Given the description of an element on the screen output the (x, y) to click on. 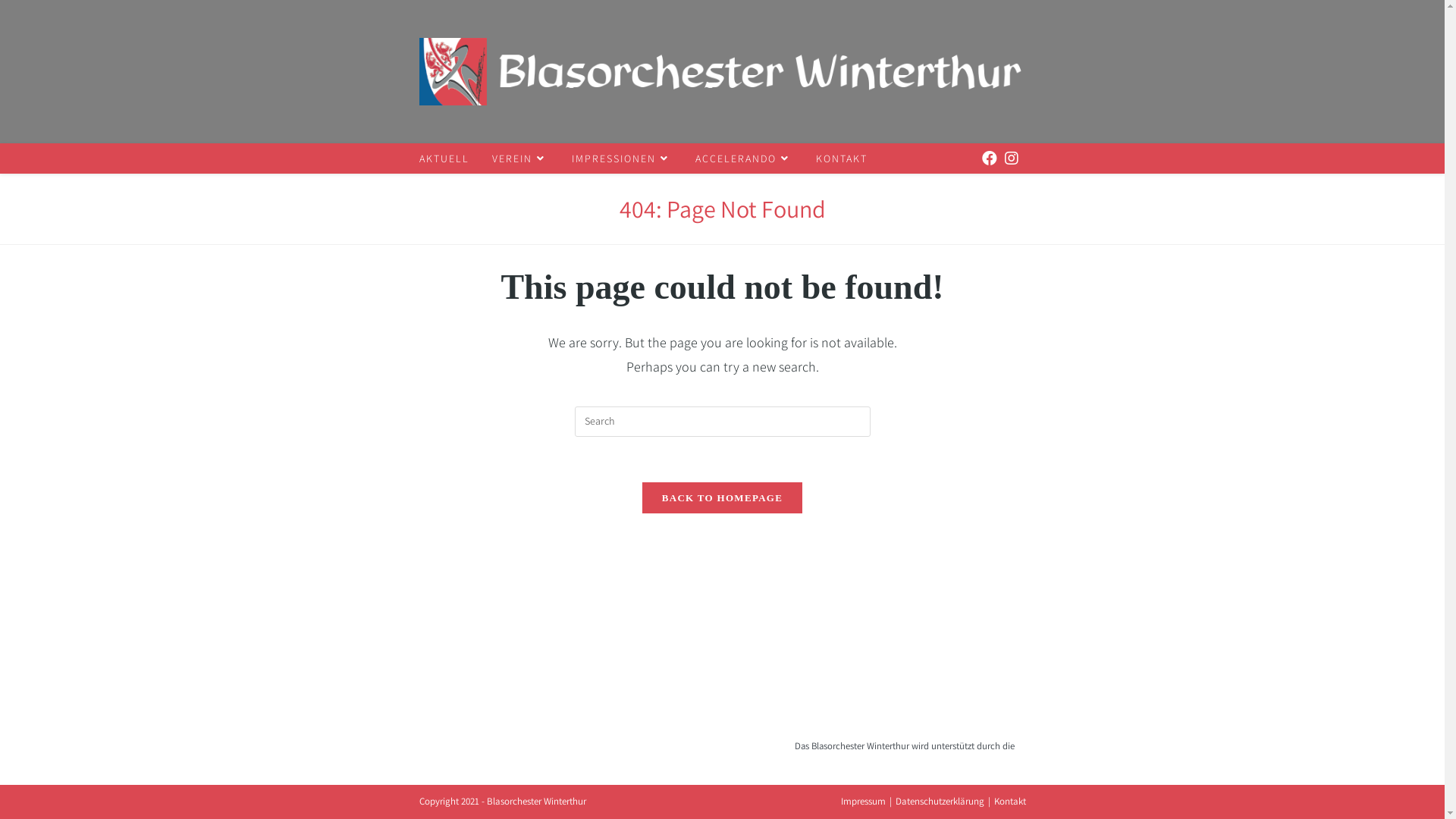
AKTUELL Element type: text (443, 158)
VEREIN Element type: text (520, 158)
IMPRESSIONEN Element type: text (621, 158)
Impressum Element type: text (862, 800)
ACCELERANDO Element type: text (744, 158)
KONTAKT Element type: text (840, 158)
BACK TO HOMEPAGE Element type: text (722, 497)
Kontakt Element type: text (1009, 800)
